Given the description of an element on the screen output the (x, y) to click on. 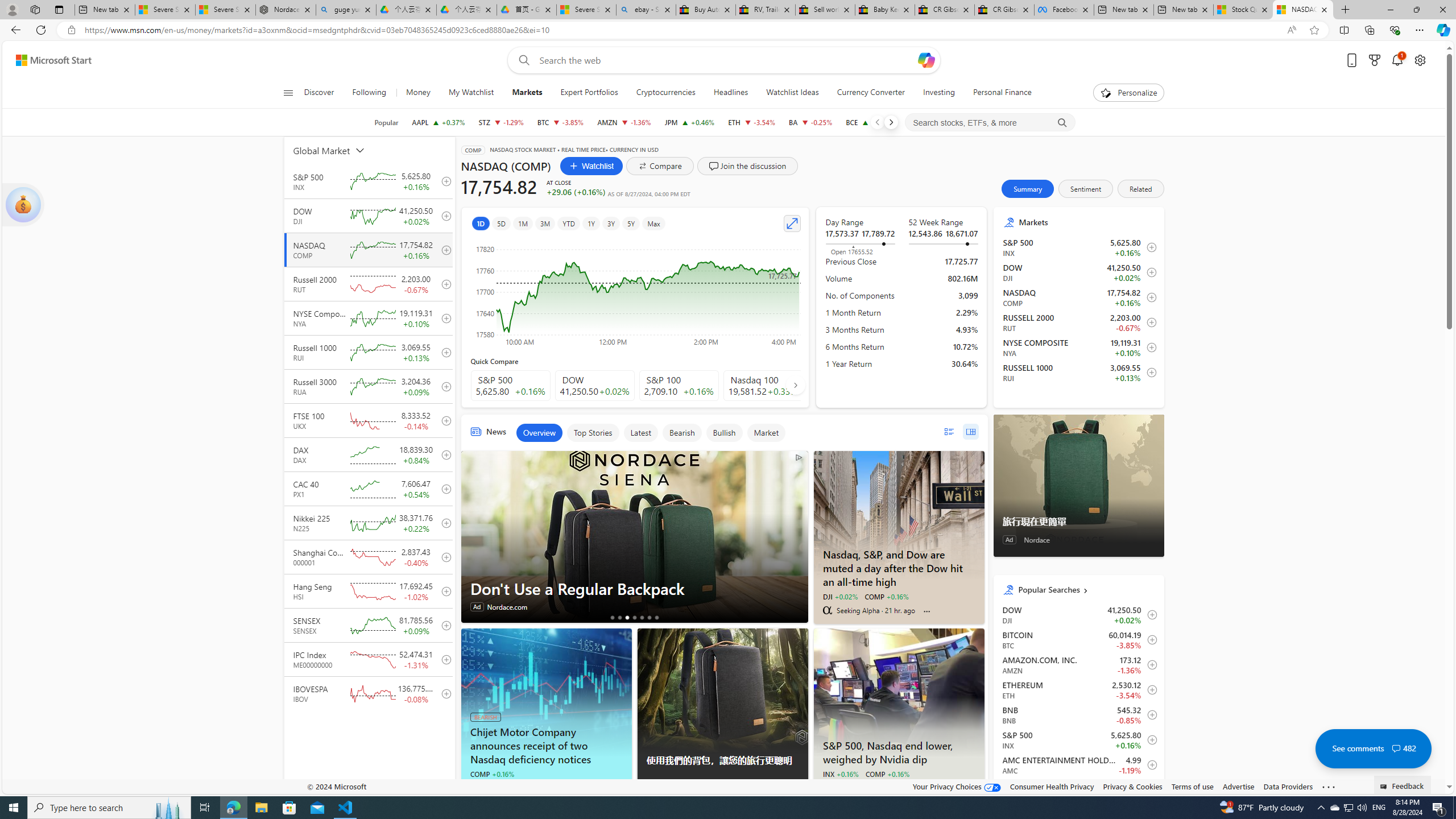
Cryptocurrencies (665, 92)
Enter your search term (726, 59)
Your Privacy Choices (956, 785)
Microsoft rewards (1374, 60)
Privacy & Cookies (1131, 786)
Markets (1086, 222)
JPM JPMORGAN CHASE & CO. increase 220.18 +1.01 +0.46% (690, 122)
Advertise (1238, 786)
